Given the description of an element on the screen output the (x, y) to click on. 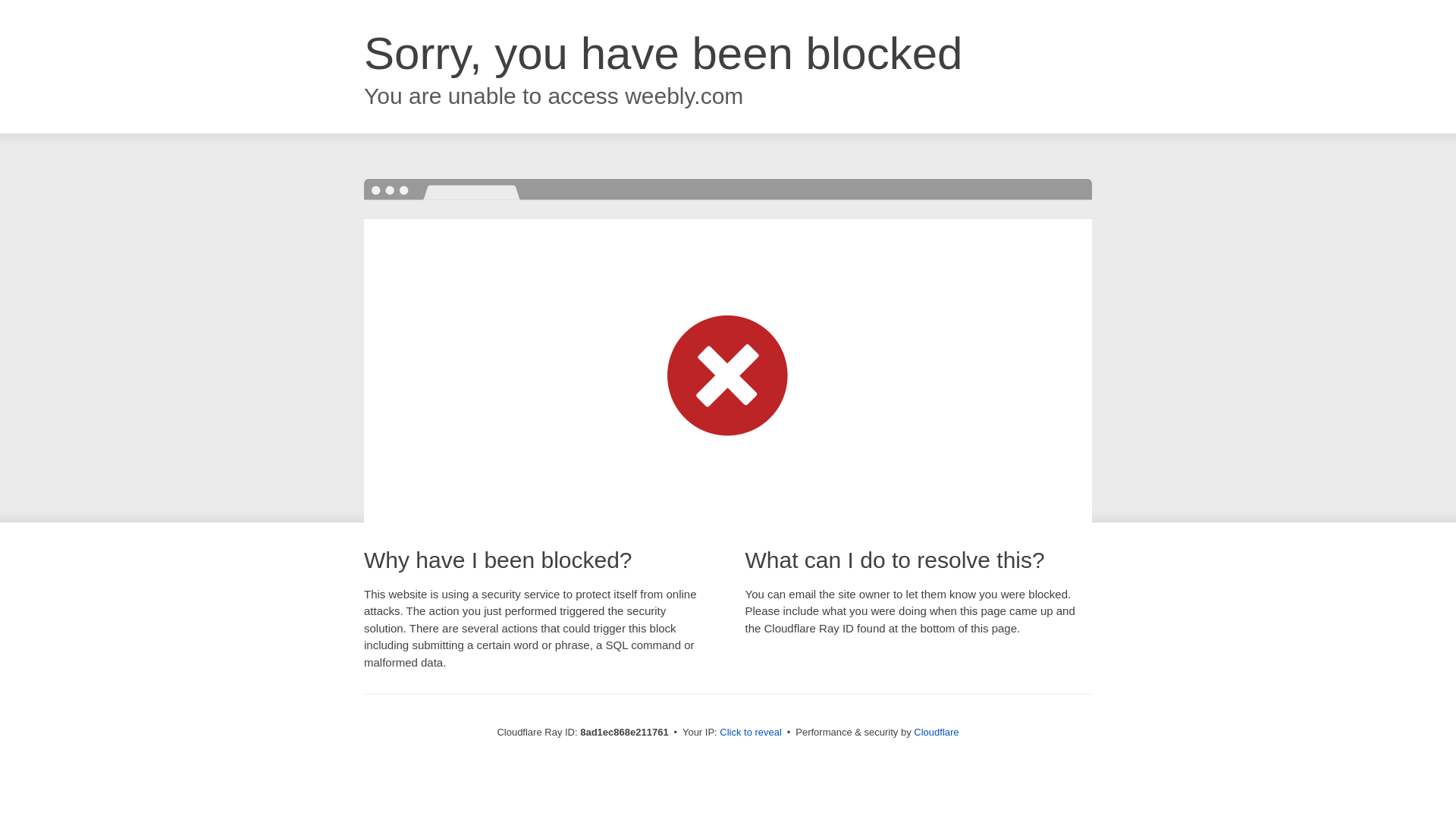
Click to reveal (750, 732)
Cloudflare (936, 731)
